Given the description of an element on the screen output the (x, y) to click on. 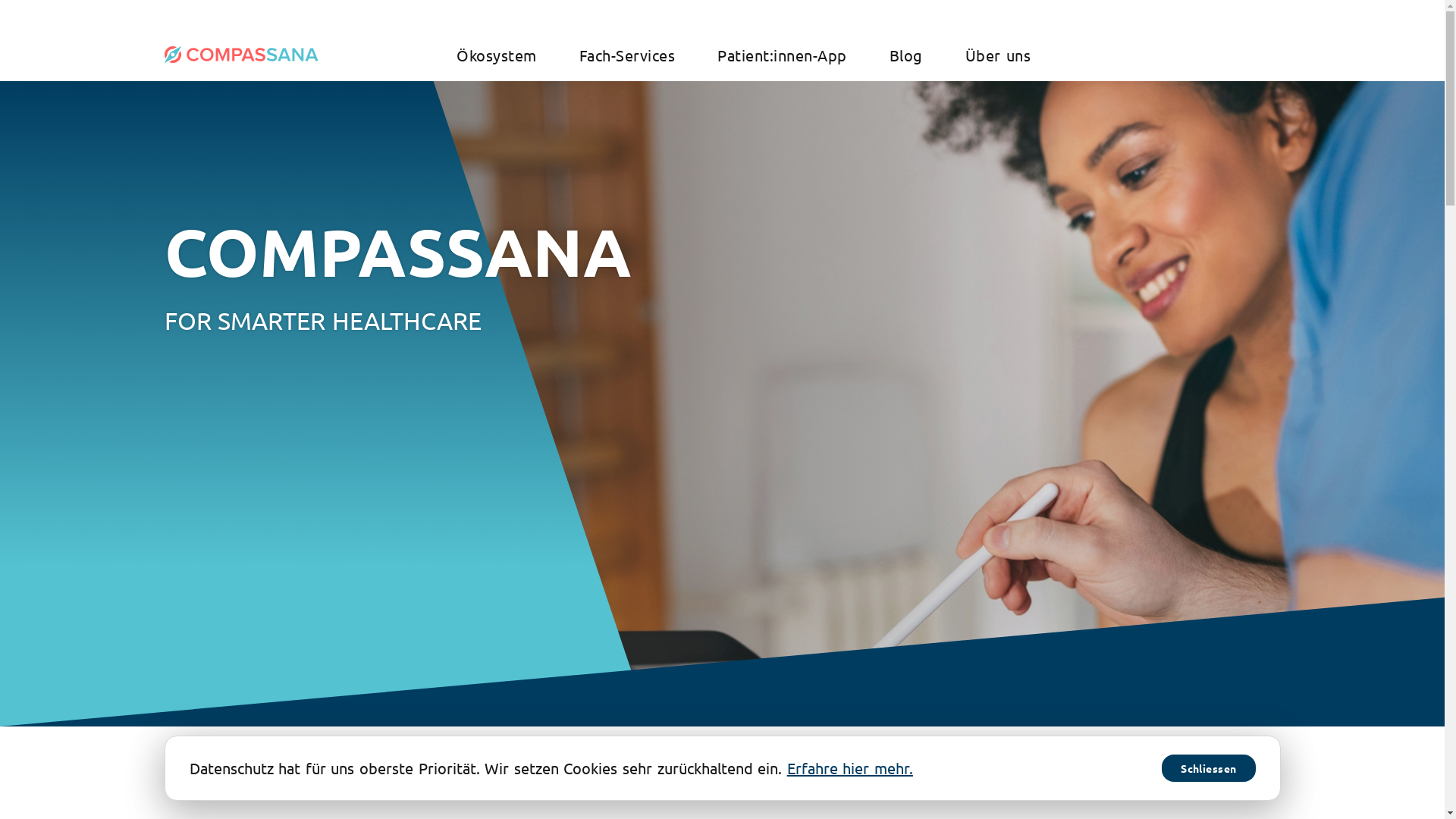
Erfahre hier mehr. Element type: text (850, 767)
Patient:innen-App Element type: text (782, 54)
Fach-Services Element type: text (627, 54)
Schliessen Element type: text (1208, 767)
Blog Element type: text (905, 54)
